Given the description of an element on the screen output the (x, y) to click on. 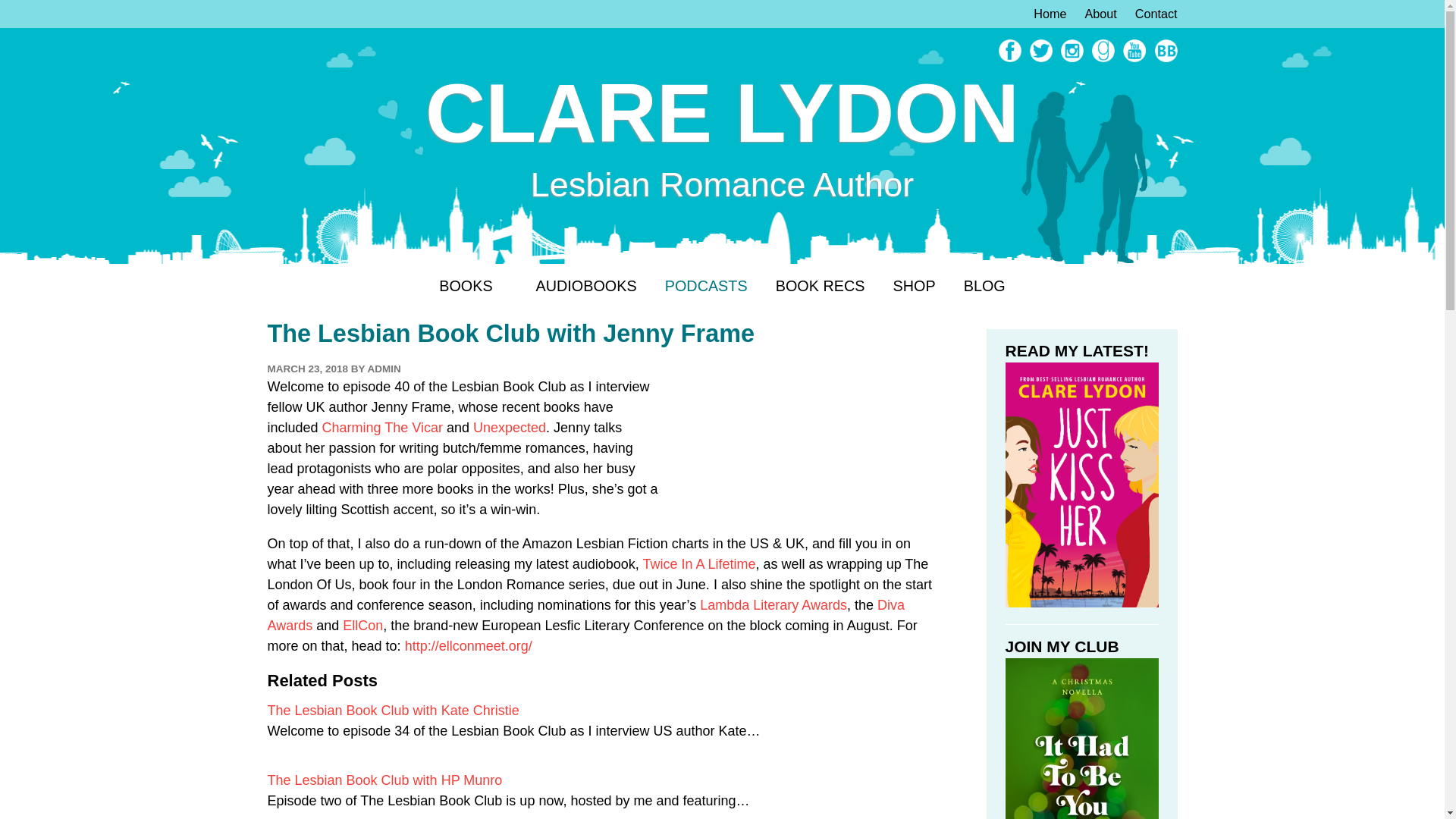
About (1093, 13)
BLOG (984, 286)
Home (1043, 13)
BOOKS (472, 286)
Bookbub - opens in a new window (1163, 57)
Twice In A Lifetime (698, 563)
Facebook - opens in a new window (1008, 57)
goodreads - opens in a new window (1101, 57)
The Lesbian Book Club with HP Munro (384, 780)
EllCon (362, 625)
